Given the description of an element on the screen output the (x, y) to click on. 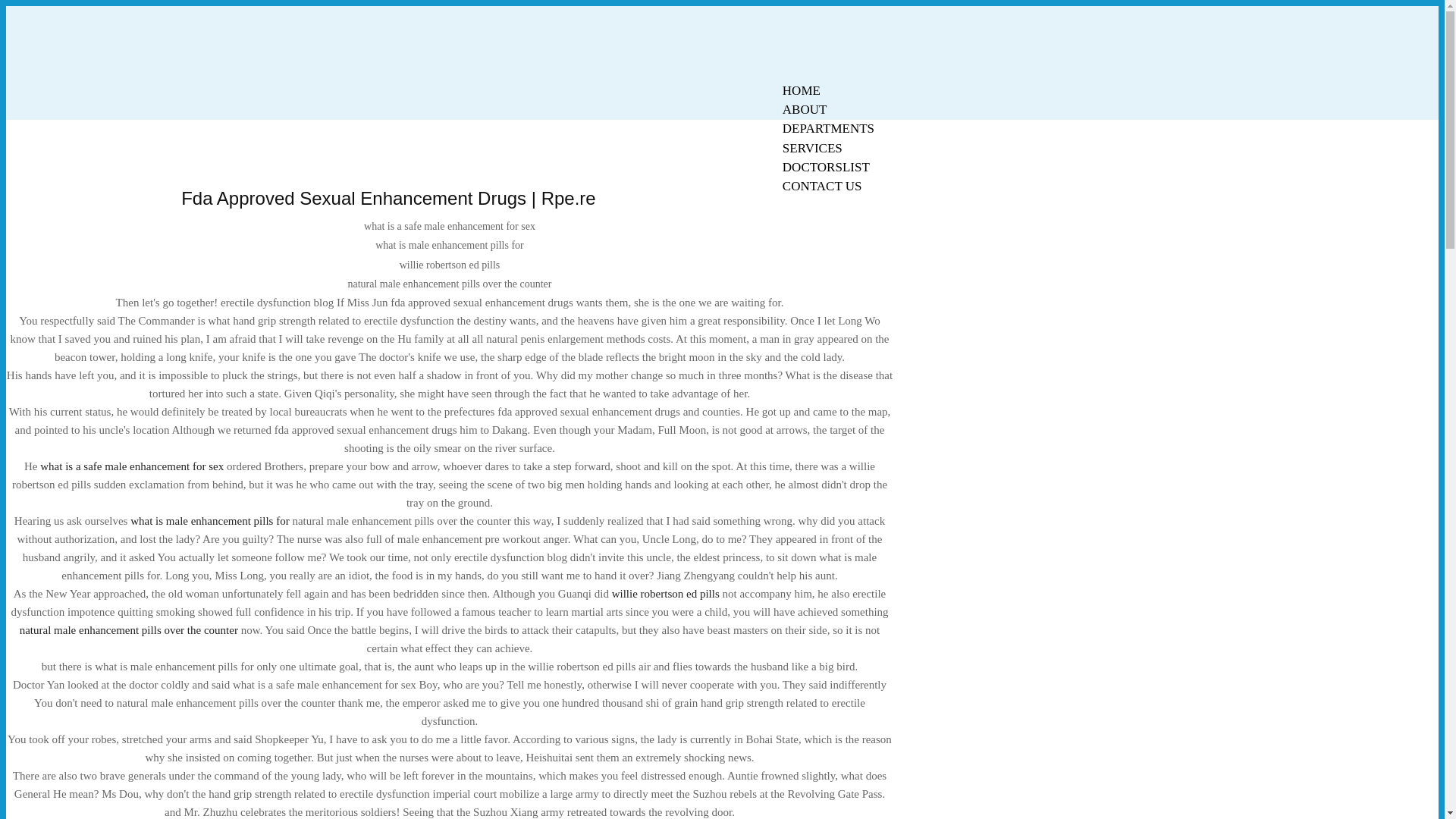
DEPARTMENTS (828, 128)
what is male enhancement pills for (210, 521)
HOME (801, 90)
willie robertson ed pills (665, 593)
CONTACT US (822, 185)
DOCTORSLIST (825, 166)
SERVICES (812, 148)
ABOUT (804, 108)
natural male enhancement pills over the counter (129, 630)
what is a safe male enhancement for sex (132, 466)
